Given the description of an element on the screen output the (x, y) to click on. 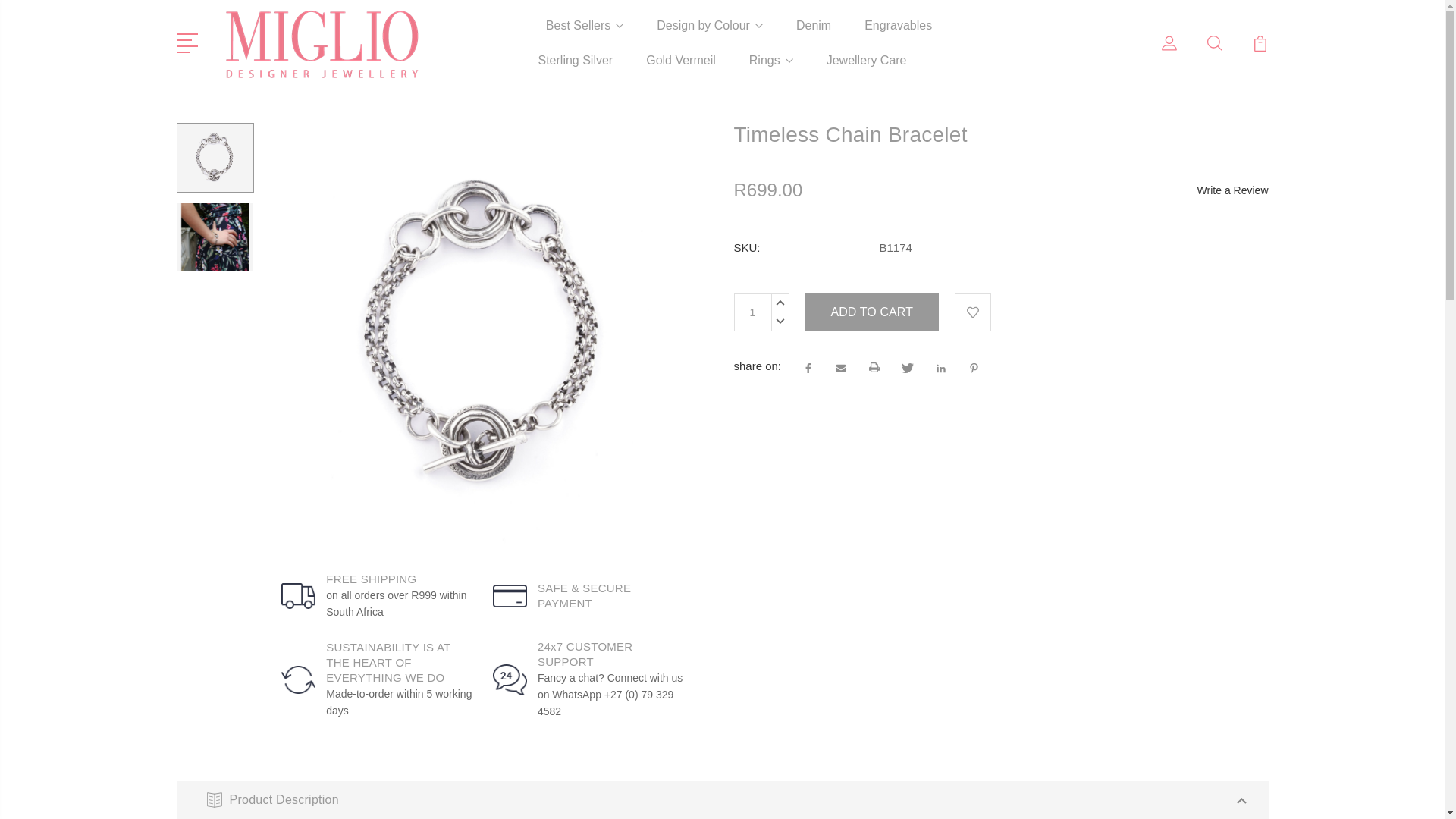
Sterling Silver (574, 69)
Engravables (897, 34)
Denim (813, 34)
Timeless Chain Bracelet    (214, 237)
Timeless Chain Bracelet    (214, 157)
1 (752, 312)
Gold Vermeil (681, 69)
Best Sellers (584, 34)
Design by Colour (709, 34)
